Given the description of an element on the screen output the (x, y) to click on. 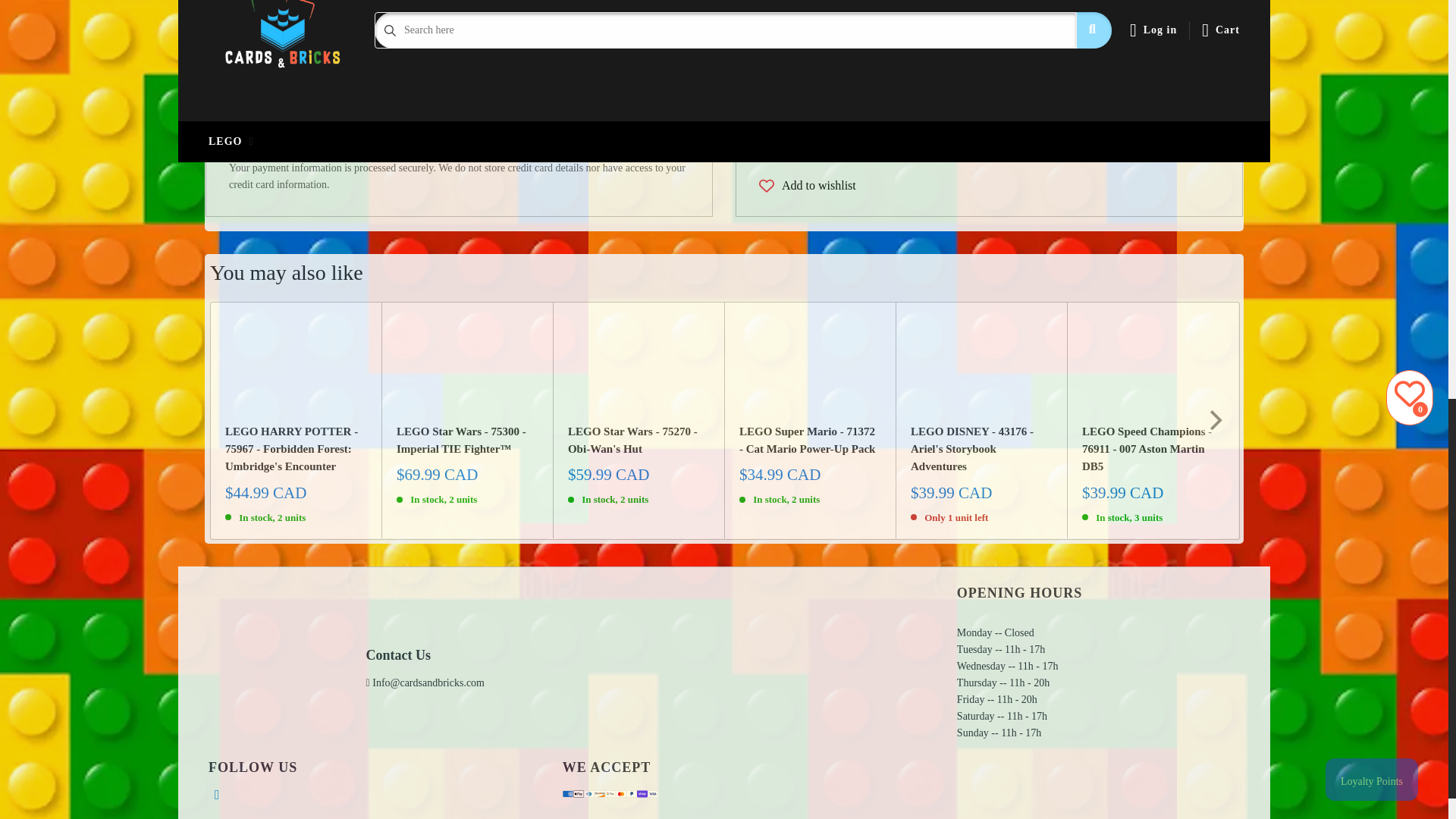
Shop Pay (462, 148)
American Express (242, 148)
Visa (494, 148)
Mastercard (400, 148)
PayPal (431, 148)
Apple Pay (274, 148)
Apple Pay (578, 793)
American Express (567, 793)
Diners Club (306, 148)
Google Pay (369, 148)
